Given the description of an element on the screen output the (x, y) to click on. 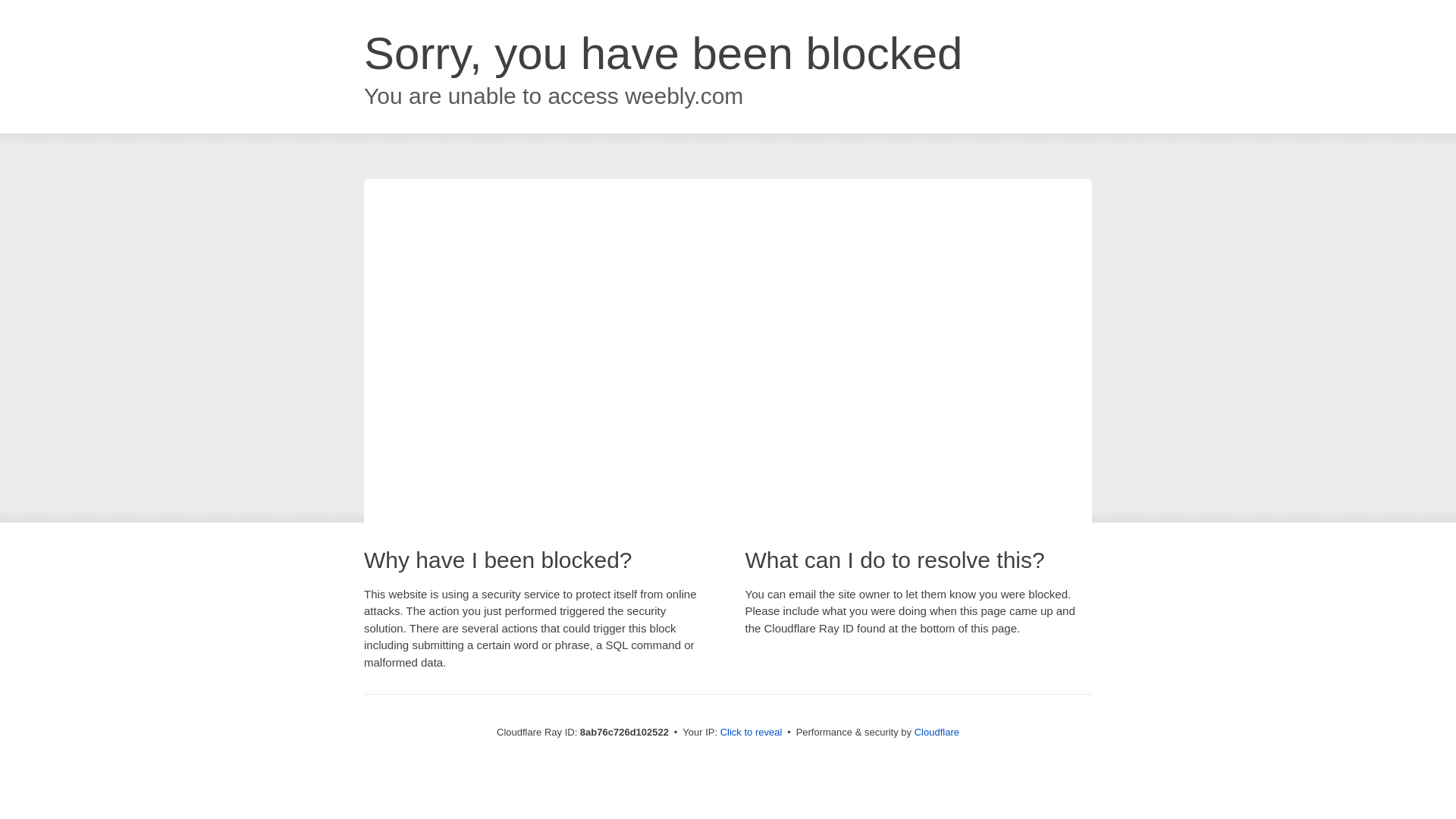
Click to reveal (751, 732)
Cloudflare (936, 731)
